Given the description of an element on the screen output the (x, y) to click on. 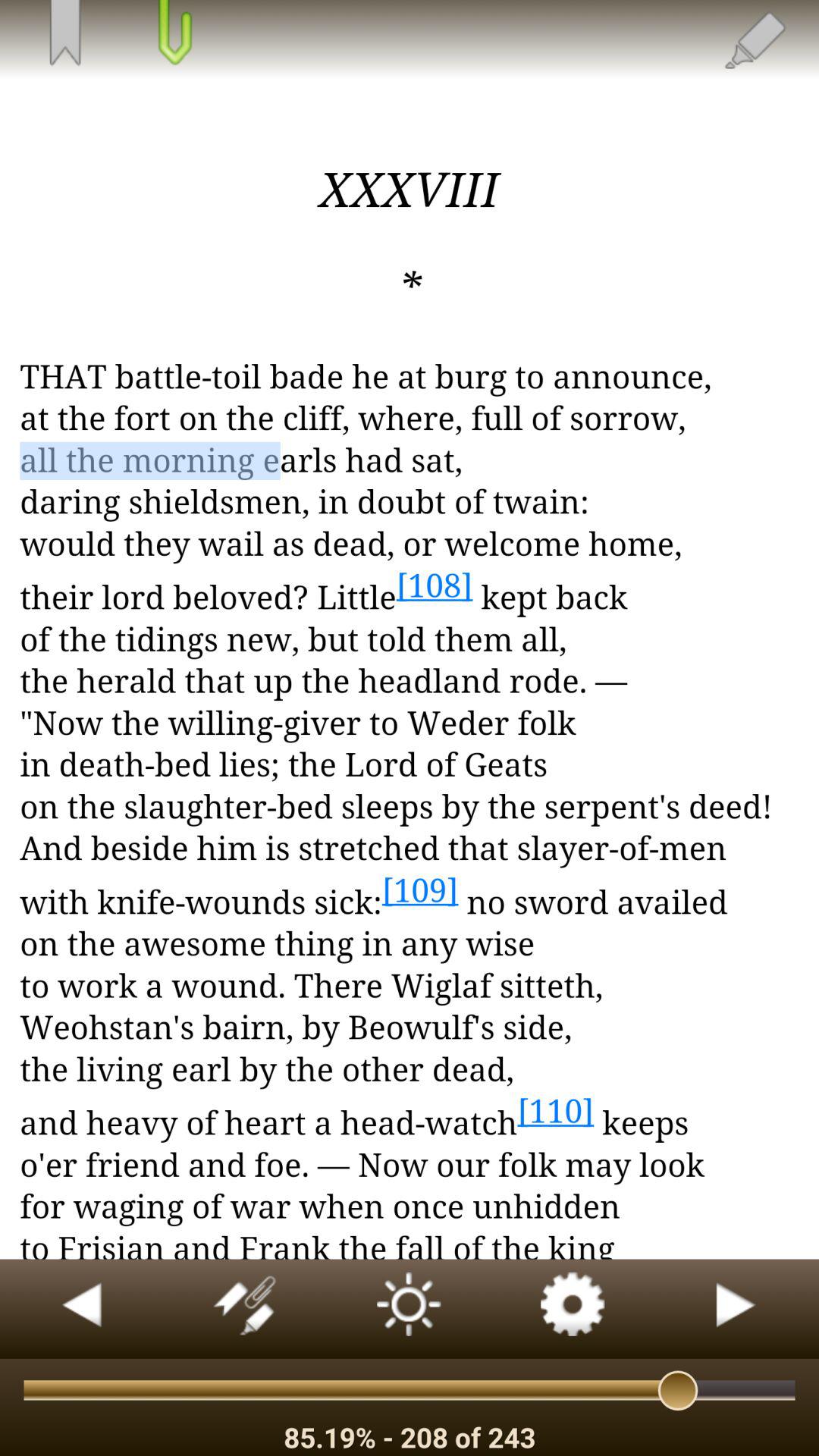
start (737, 1308)
